Given the description of an element on the screen output the (x, y) to click on. 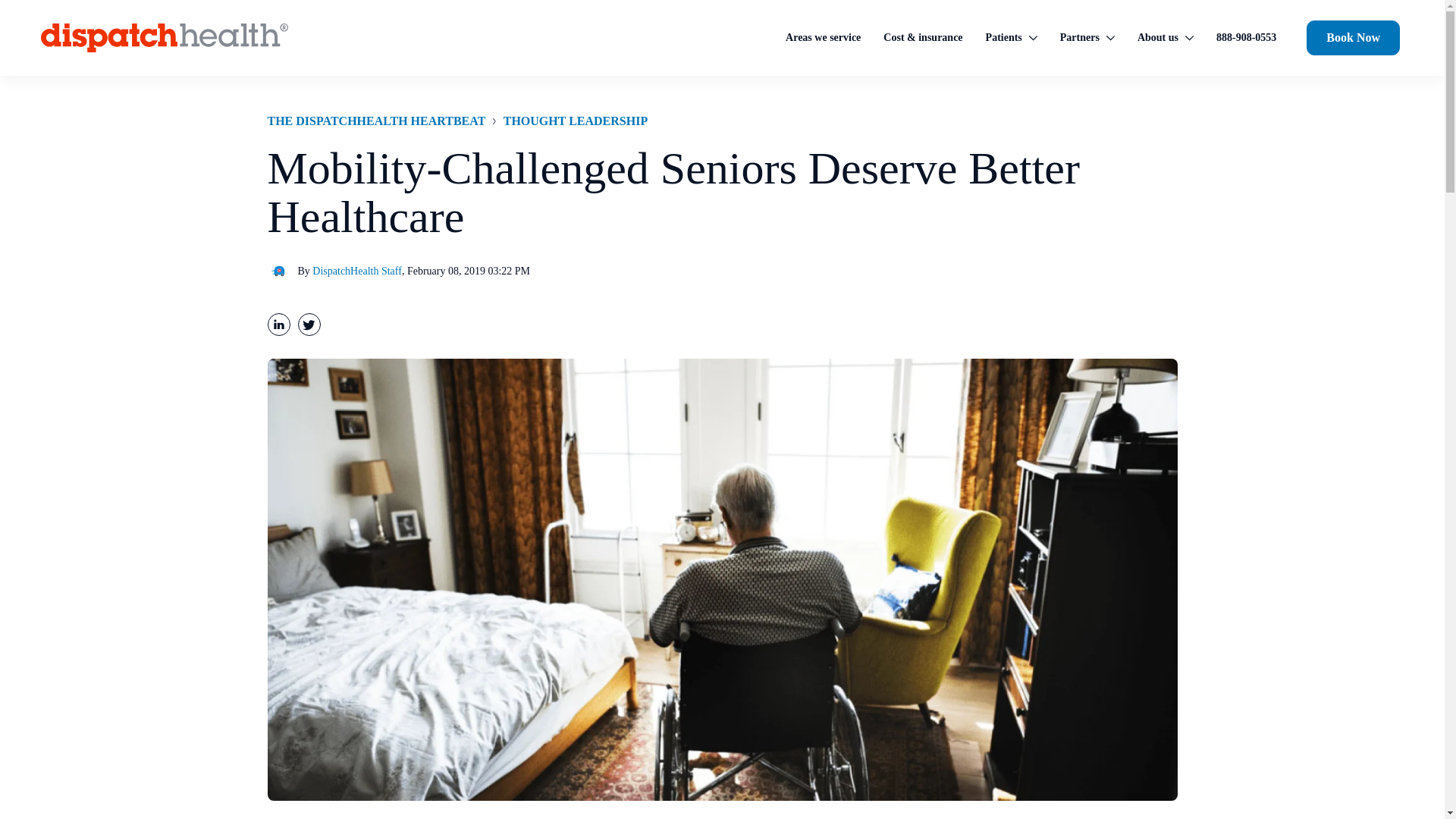
Areas we service (822, 39)
Patients (1011, 39)
